Given the description of an element on the screen output the (x, y) to click on. 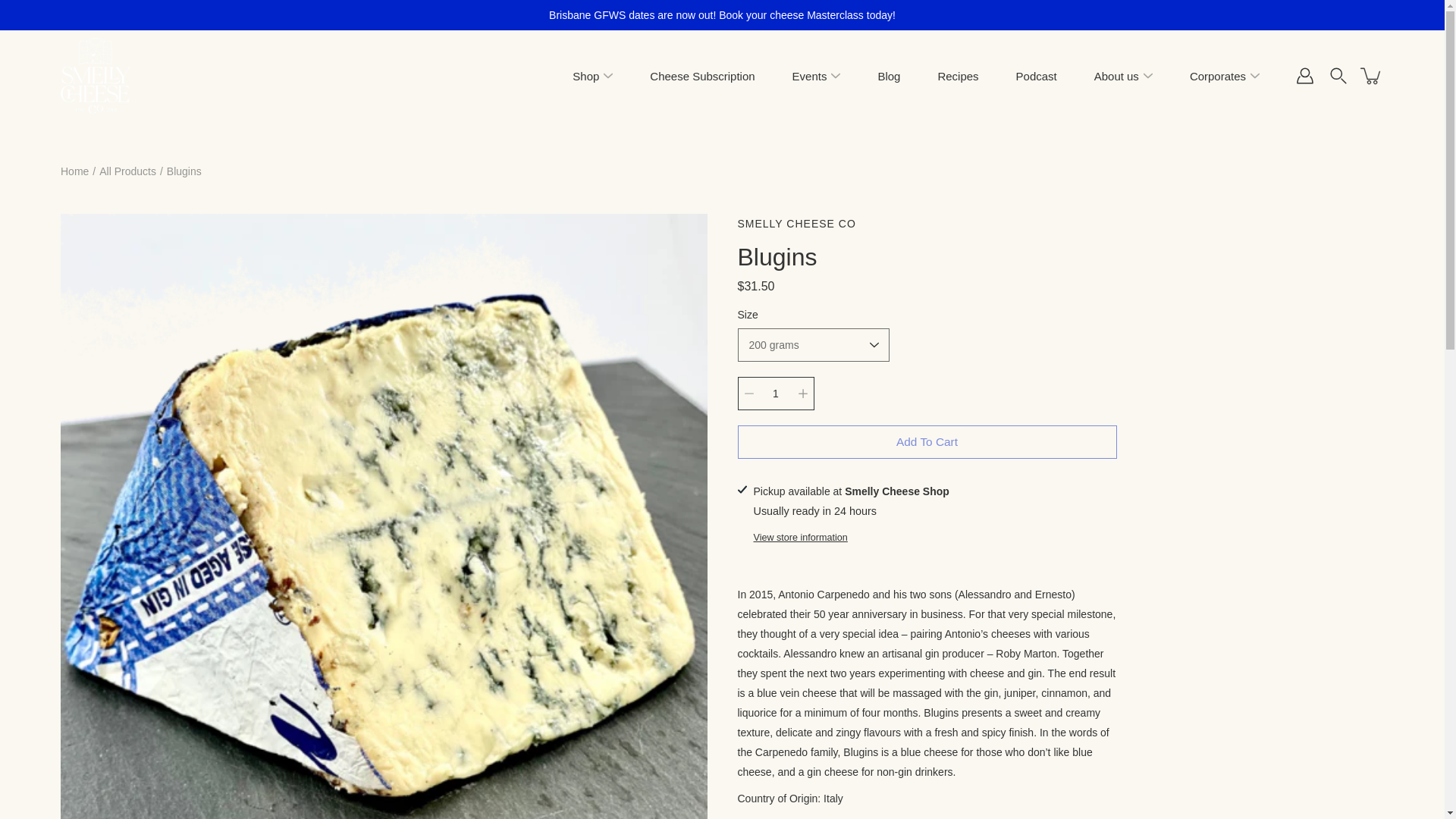
Events (809, 75)
Podcast (1036, 75)
Blog (888, 75)
Cheese Subscription (701, 75)
About us (1116, 75)
Back to the Homepage (74, 171)
Shop (585, 75)
1 (774, 393)
Recipes (957, 75)
